Given the description of an element on the screen output the (x, y) to click on. 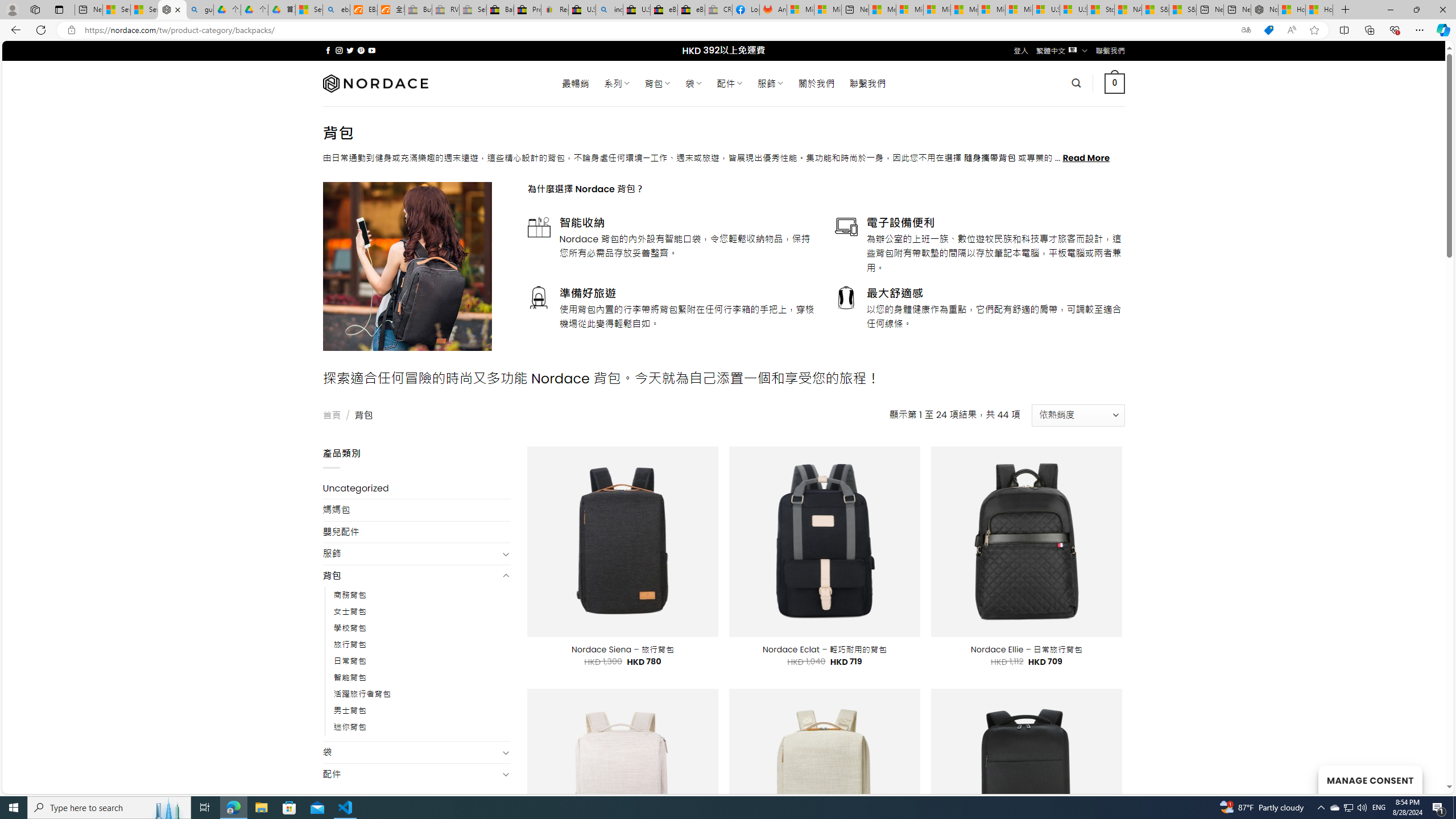
Read More (1085, 157)
eBay Inc. Reports Third Quarter 2023 Results (691, 9)
How to Use a Monitor With Your Closed Laptop (1319, 9)
